Given the description of an element on the screen output the (x, y) to click on. 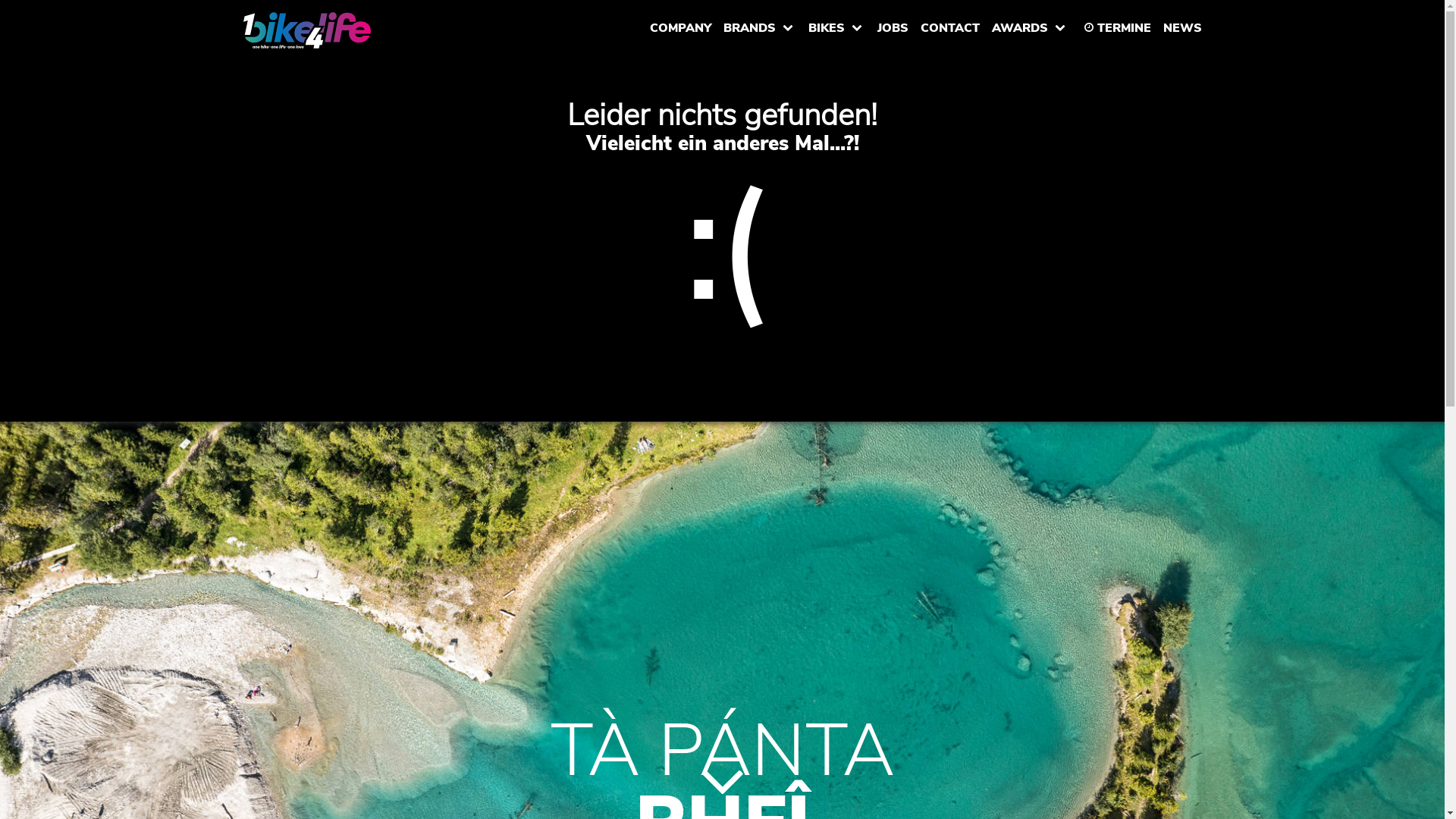
CONTACT Element type: text (949, 27)
BIKES Element type: text (836, 27)
AWARDS Element type: text (1029, 27)
TERMINE Element type: text (1114, 27)
www.1bike4life.com Element type: hover (306, 30)
NEWS Element type: text (1182, 27)
COMPANY Element type: text (679, 27)
BRANDS Element type: text (759, 27)
JOBS Element type: text (891, 27)
